Given the description of an element on the screen output the (x, y) to click on. 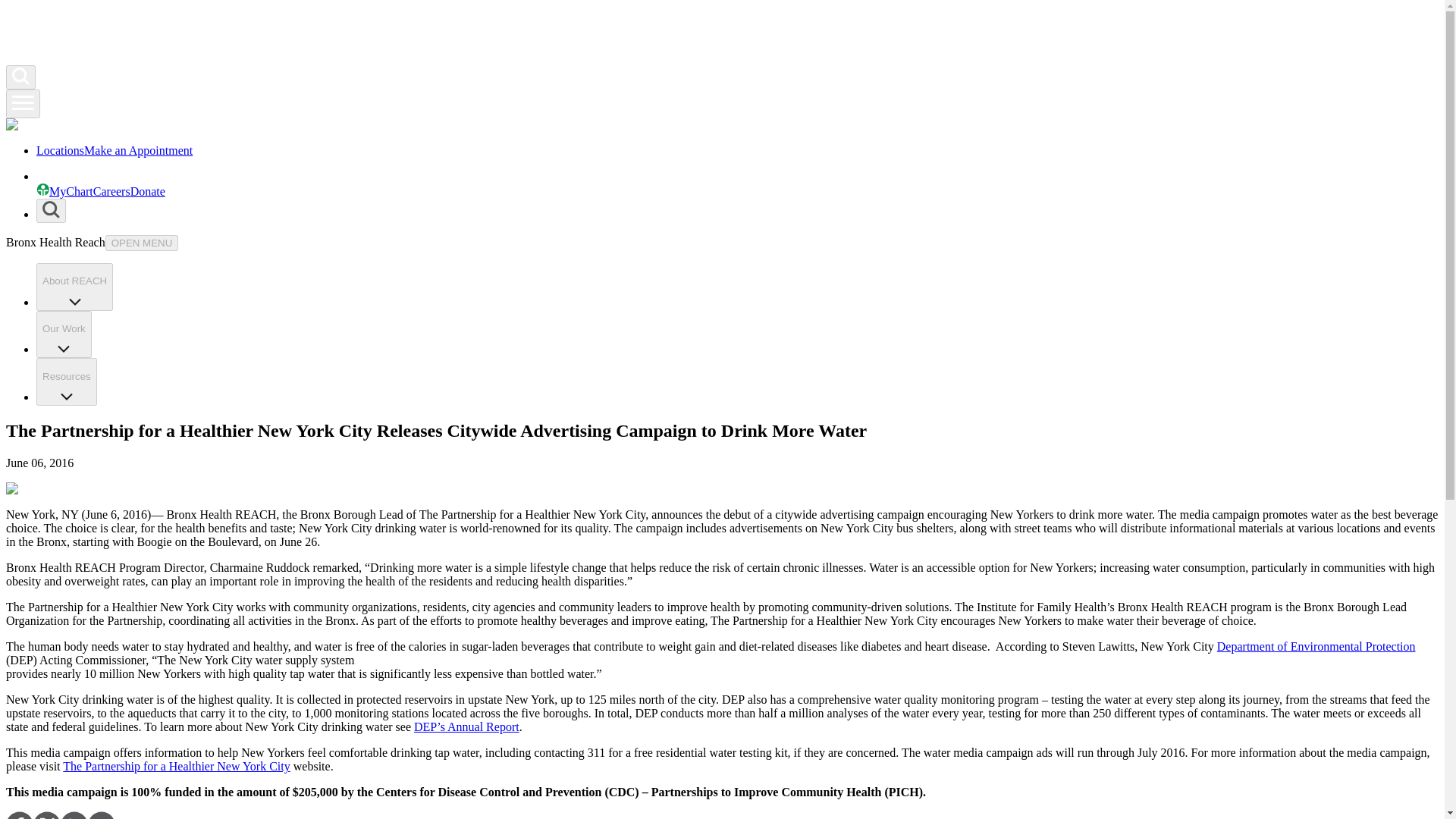
Our Work (63, 334)
Department of Environmental Protection (1316, 645)
About REACH (74, 286)
Careers (112, 191)
OPEN MENU (141, 242)
Locations (60, 150)
MyChart (64, 191)
The Partnership for a Healthier New York City (175, 766)
Make an Appointment (138, 150)
Resources (66, 381)
Donate (148, 191)
